Given the description of an element on the screen output the (x, y) to click on. 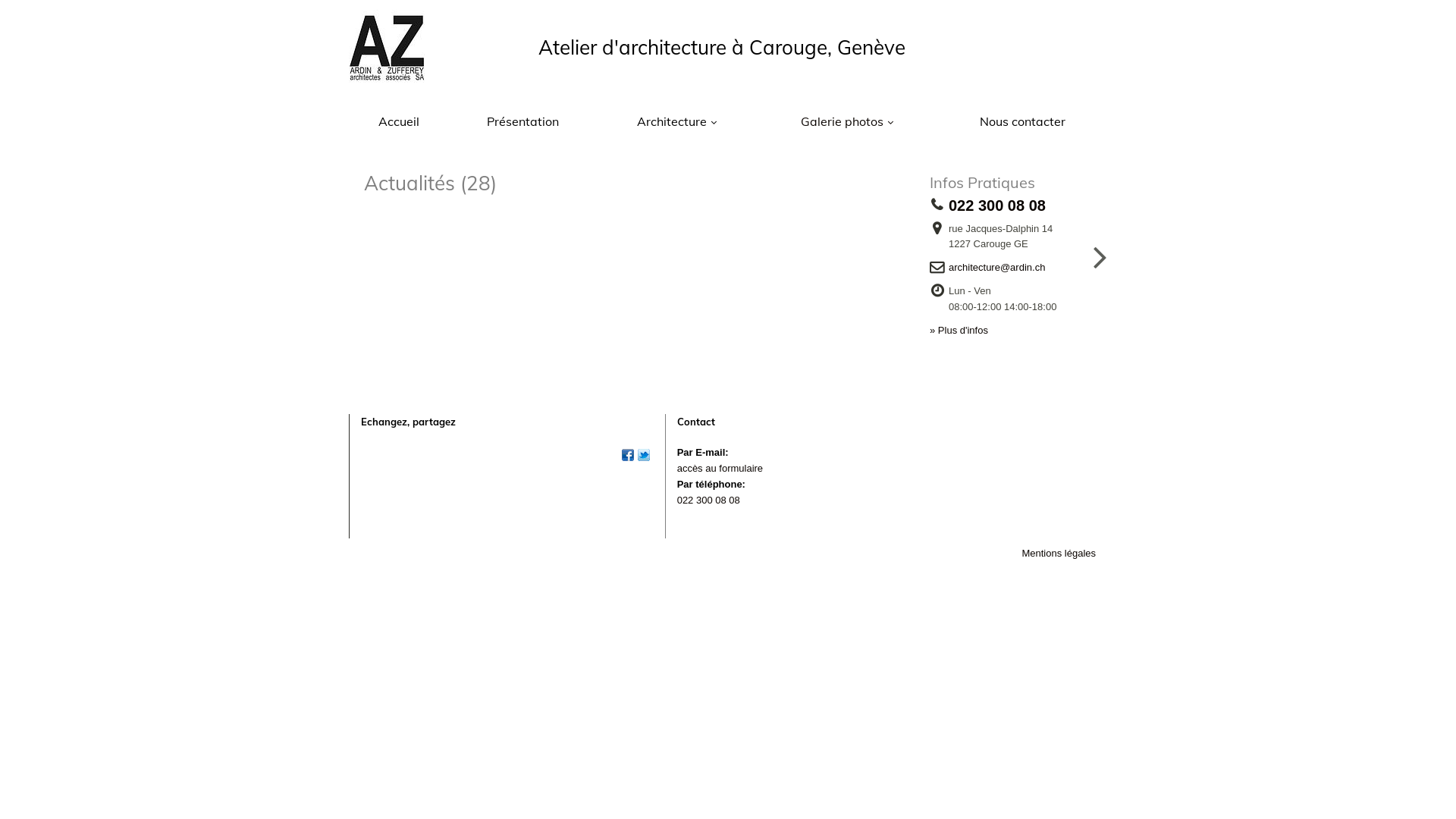
022 300 08 08 Element type: text (708, 499)
Nous contacter Element type: text (1022, 121)
architecture@ardin.ch Element type: text (1001, 268)
Galerie photos Element type: text (846, 121)
022 300 08 08 Element type: text (1001, 205)
Architecture Element type: text (676, 121)
Accueil Element type: text (398, 121)
